Given the description of an element on the screen output the (x, y) to click on. 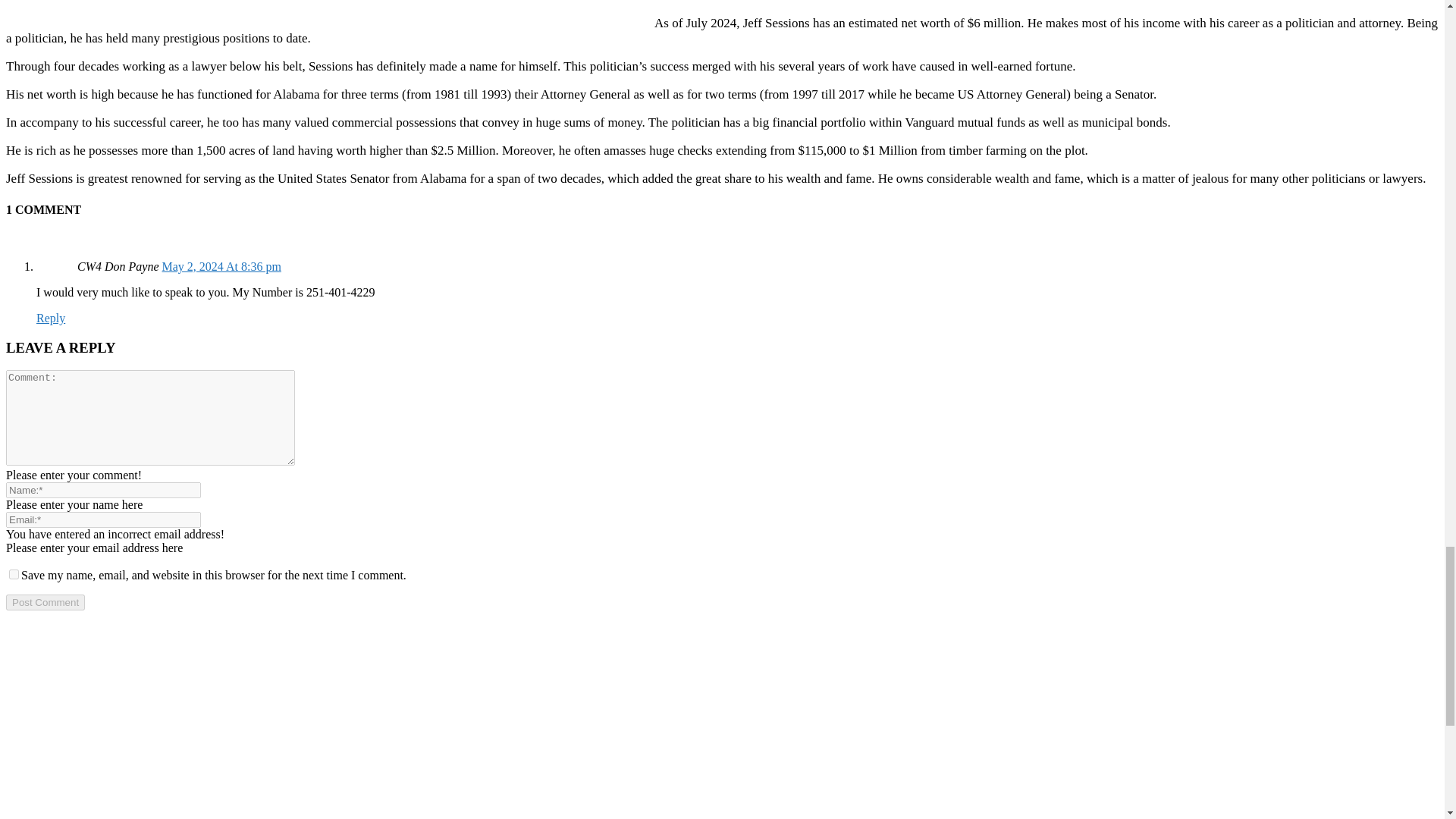
Post Comment (44, 602)
yes (13, 574)
Post Comment (44, 602)
Reply (50, 318)
May 2, 2024 At 8:36 pm (221, 266)
